Given the description of an element on the screen output the (x, y) to click on. 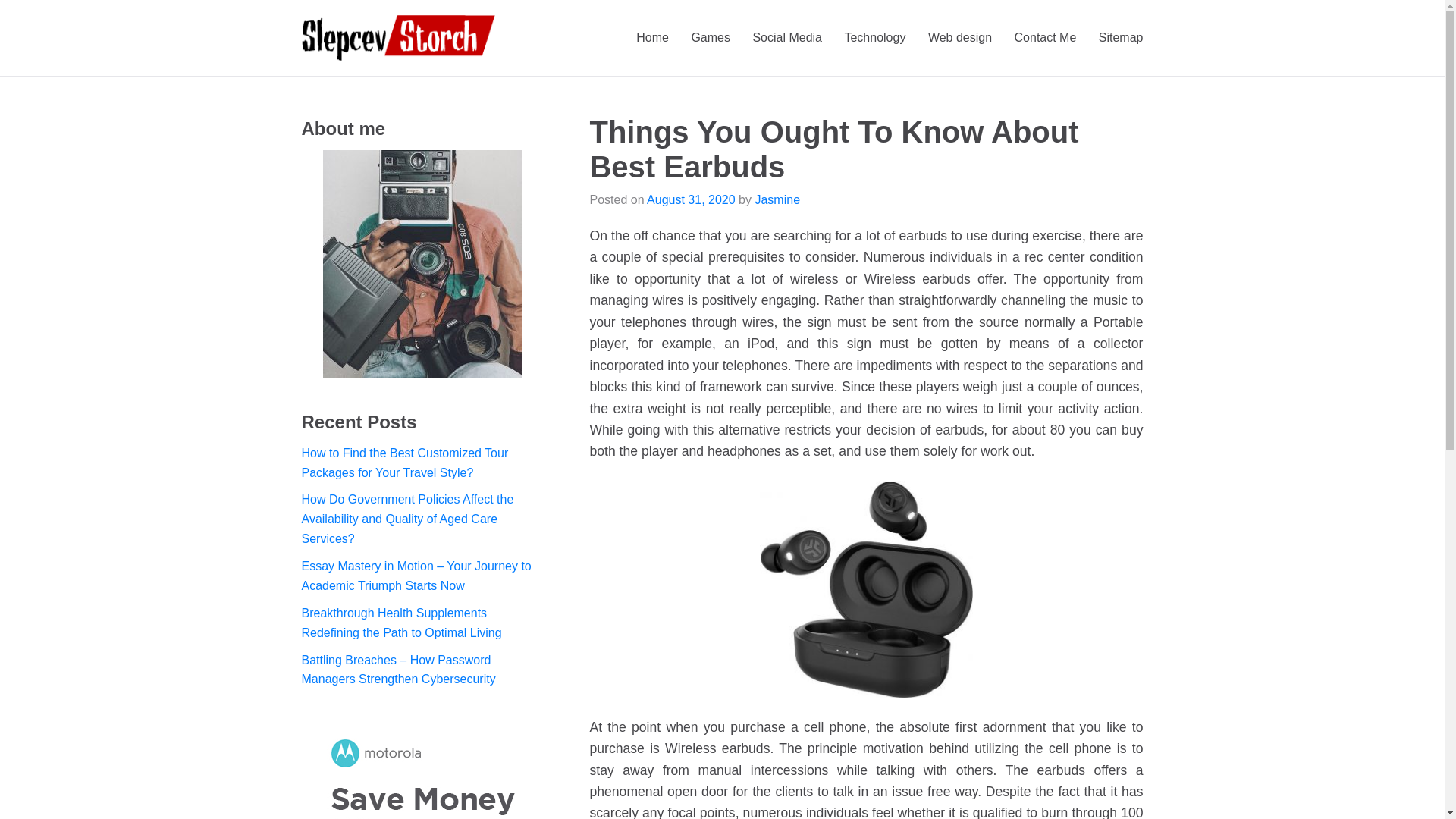
Technology (874, 37)
Sitemap (1120, 37)
Contact Me (1045, 37)
Web design (959, 37)
Games (710, 37)
Home (652, 37)
Social Media (787, 37)
